Given the description of an element on the screen output the (x, y) to click on. 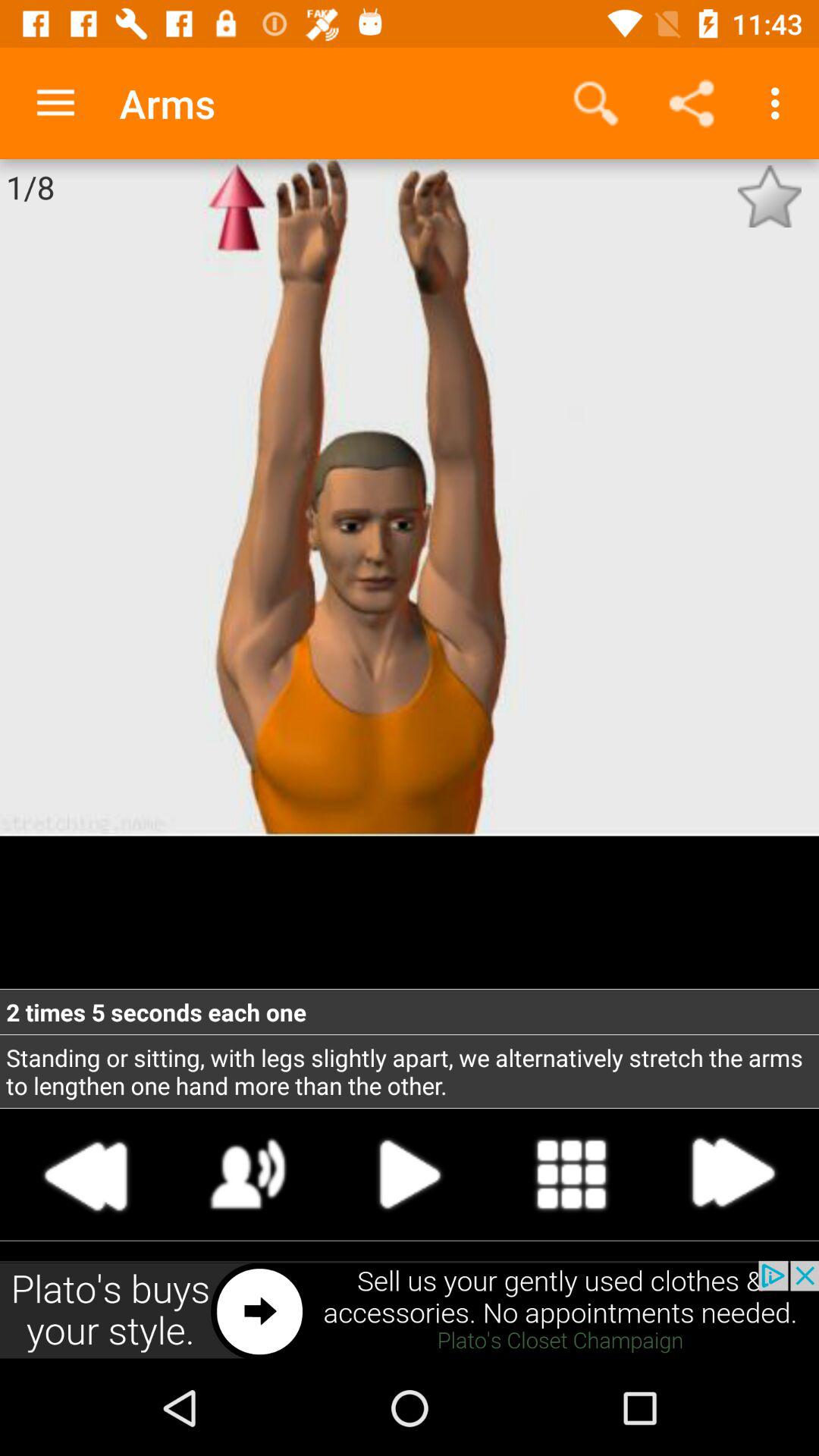
play current selection (409, 1174)
